Given the description of an element on the screen output the (x, y) to click on. 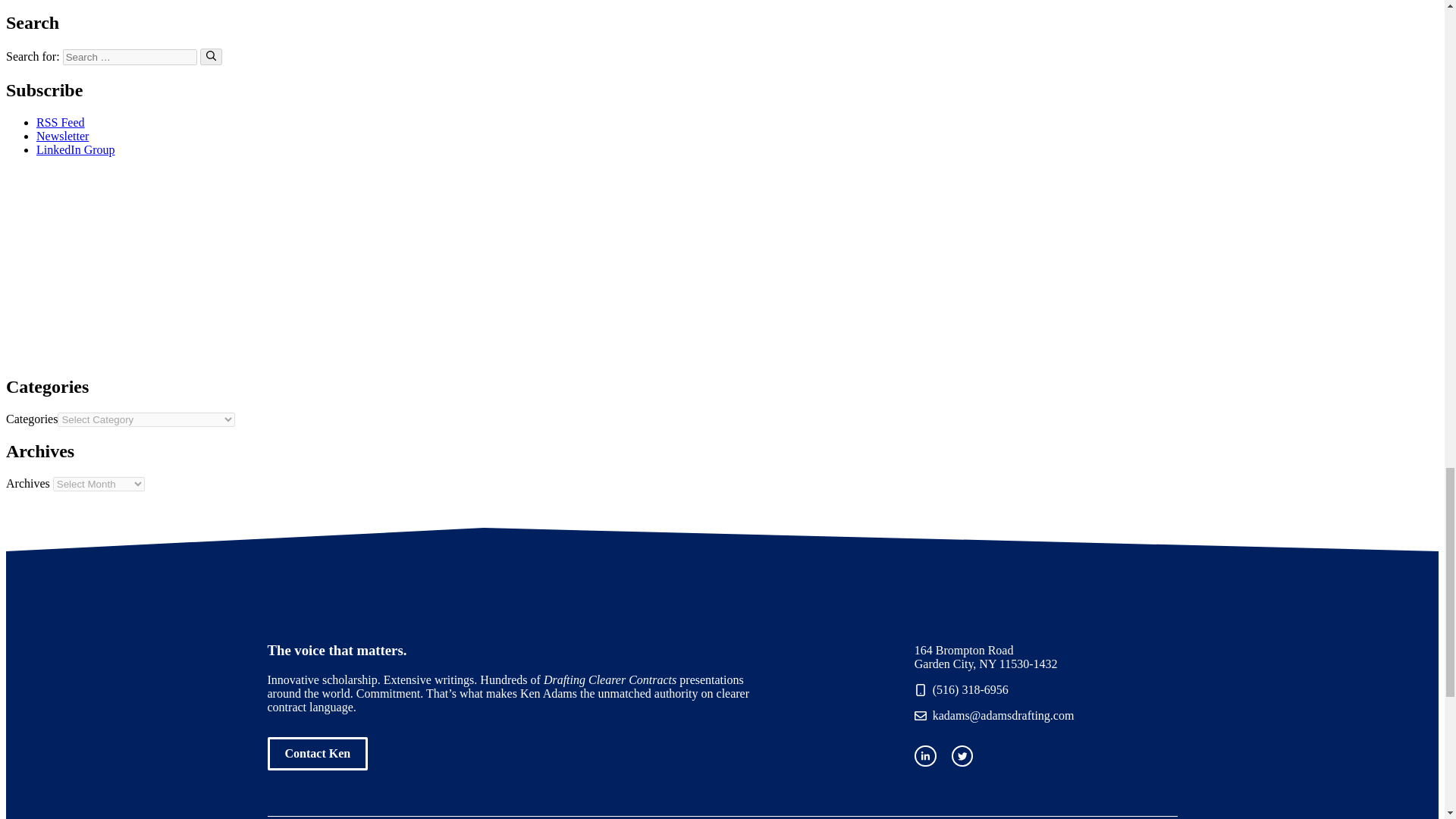
Contact Ken (317, 753)
RSS Feed (60, 122)
LinkedIn Group (75, 149)
Search for: (129, 57)
Newsletter (62, 135)
